Given the description of an element on the screen output the (x, y) to click on. 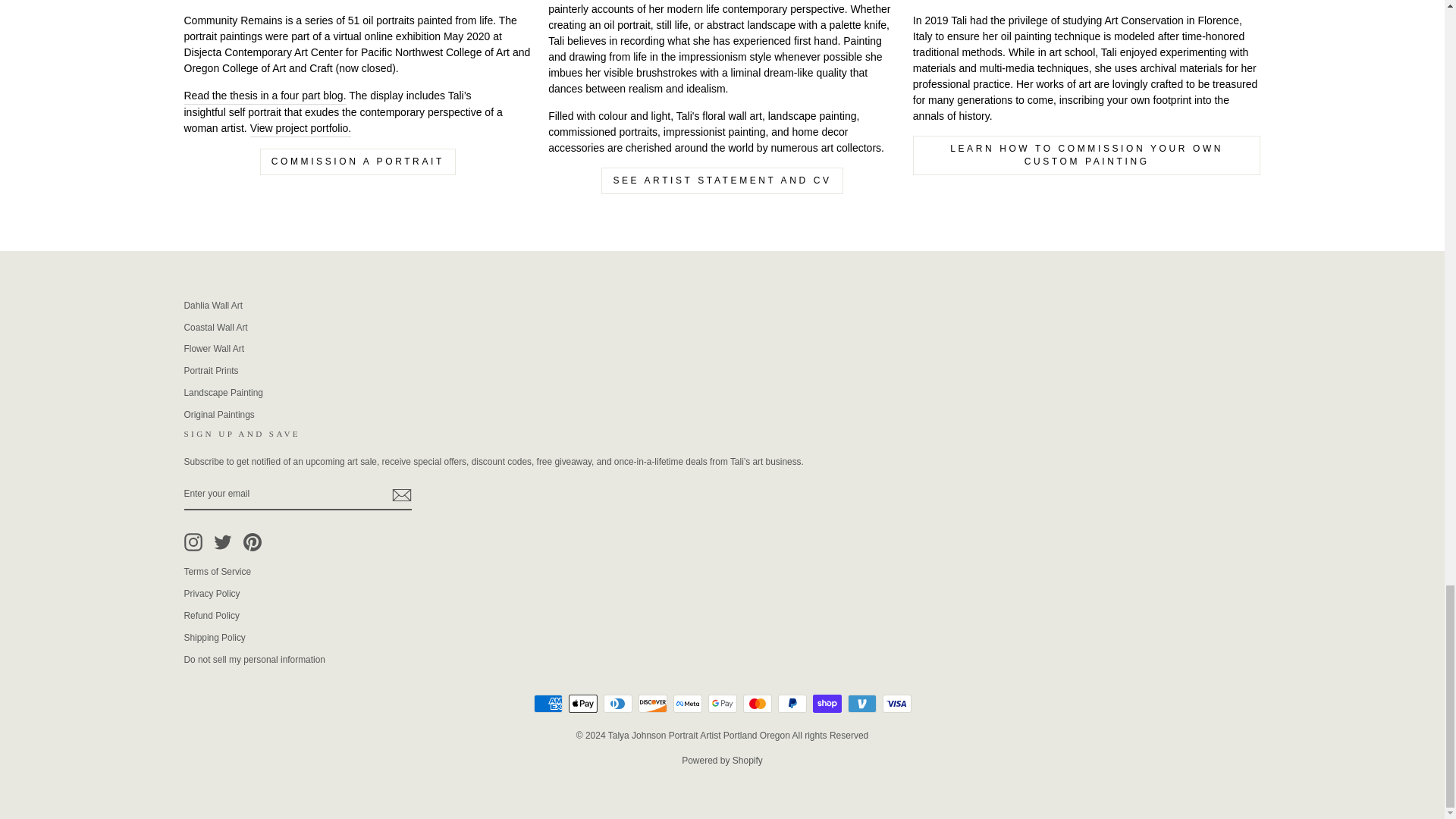
Portrait Painting (264, 95)
Talya Johnson on Twitter (222, 542)
Oil Portraits from Life (301, 128)
Talya Johnson on Pinterest (251, 542)
Talya Johnson on Instagram (192, 542)
American Express (548, 703)
